Given the description of an element on the screen output the (x, y) to click on. 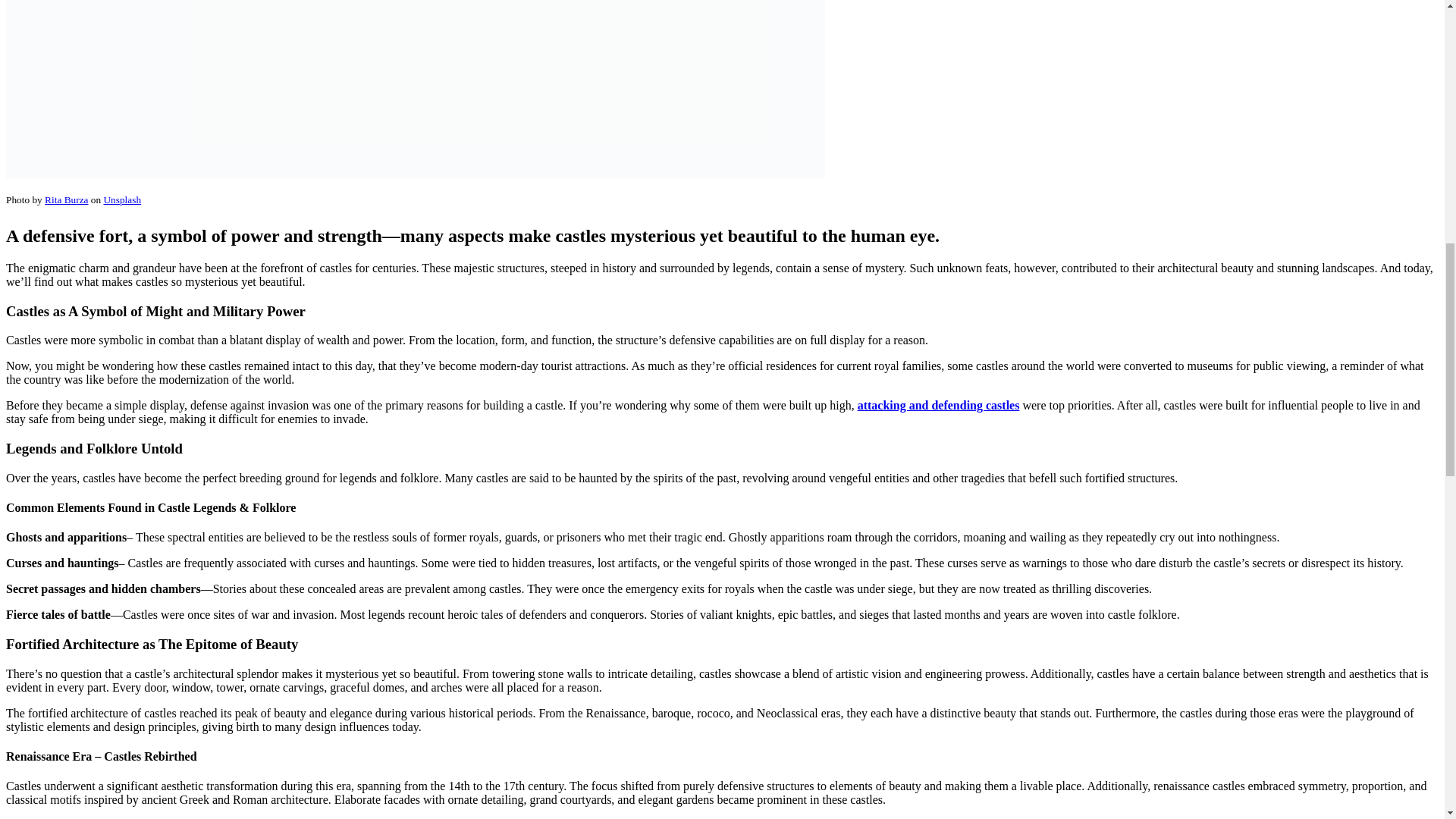
Rita Burza (66, 199)
Unsplash (122, 199)
attacking and defending castles (938, 404)
